Given the description of an element on the screen output the (x, y) to click on. 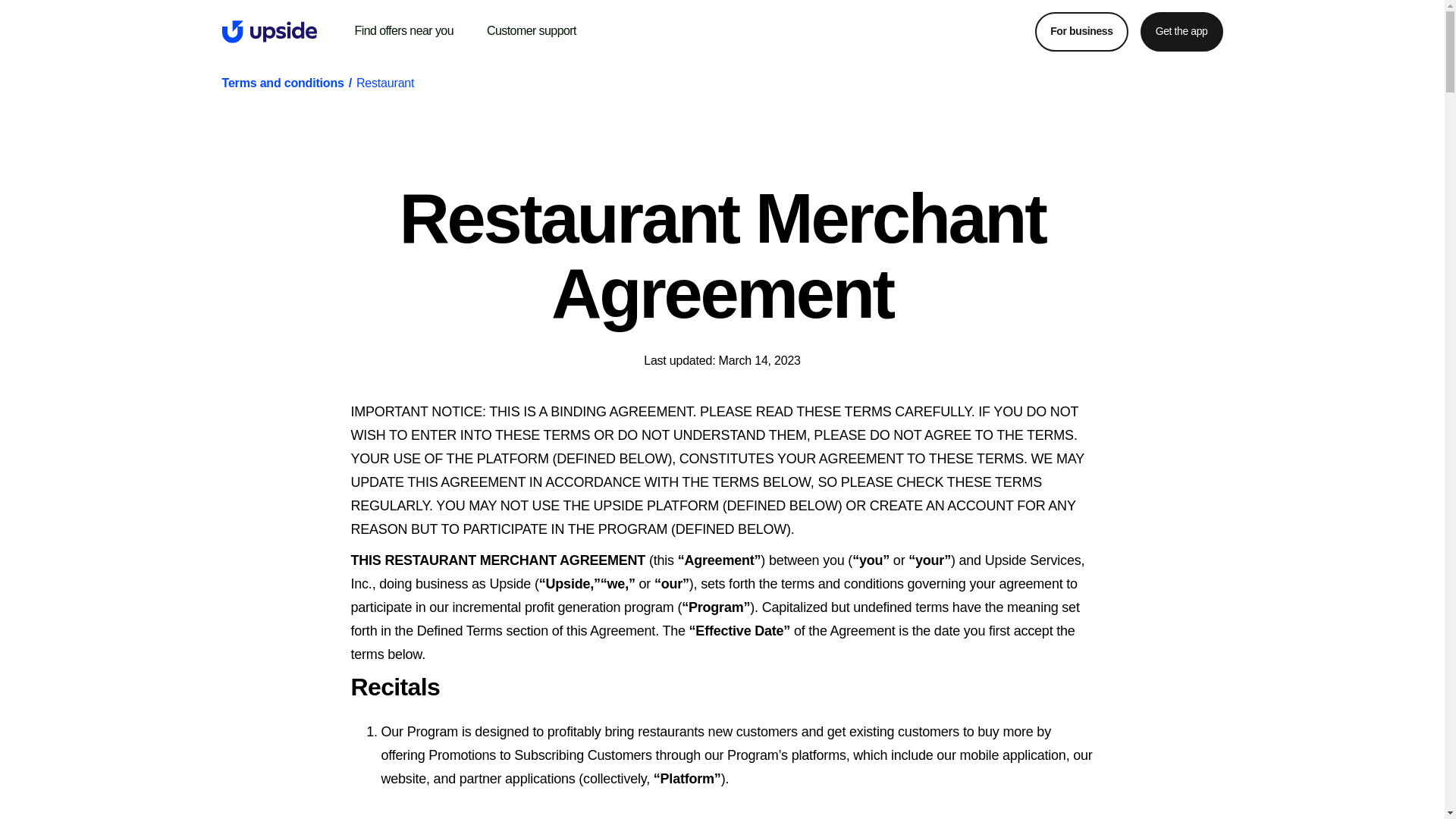
For business (1080, 31)
Terms and conditions (282, 83)
Restaurant (384, 83)
Find offers near you (404, 31)
Customer support (531, 31)
Get the app (1181, 31)
